Given the description of an element on the screen output the (x, y) to click on. 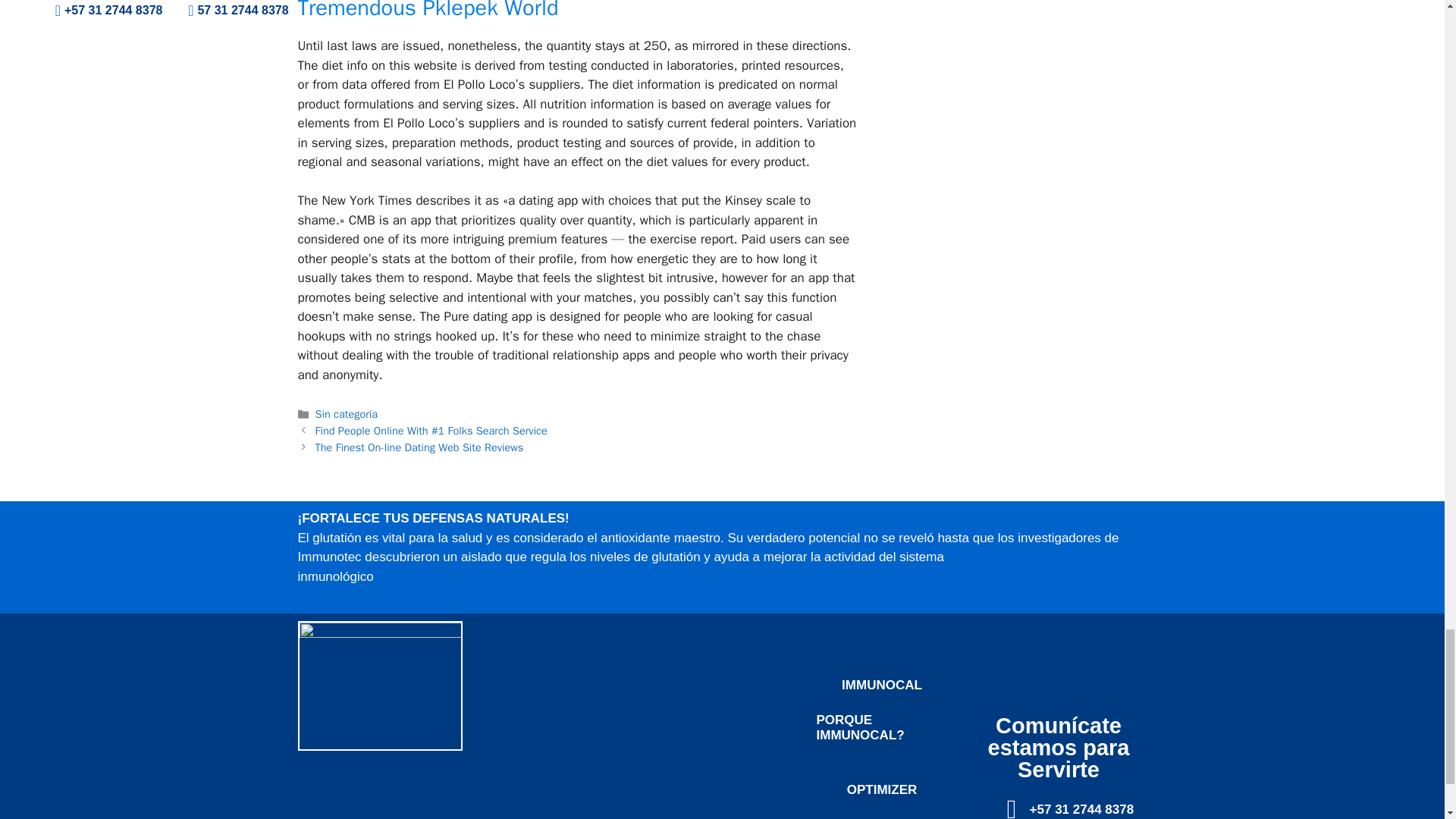
Siguiente (419, 447)
The Finest On-line Dating Web Site Reviews (419, 447)
Anterior (431, 430)
